Given the description of an element on the screen output the (x, y) to click on. 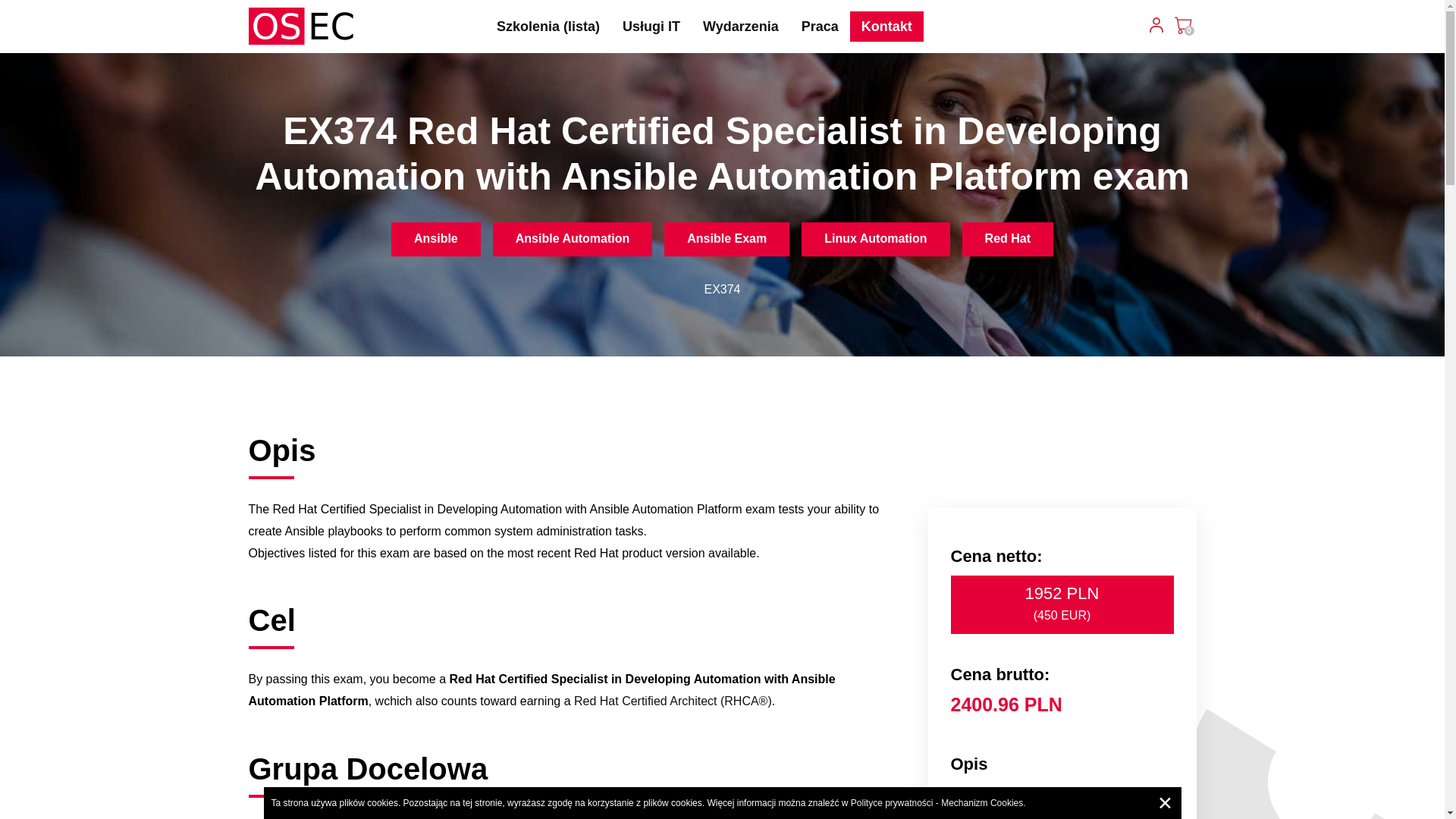
Ansible Exam (726, 238)
0 (1183, 24)
Praca (820, 26)
Ansible Automation (572, 238)
Linux Automation (875, 238)
Ansible (435, 238)
Wydarzenia (740, 26)
Kontakt (886, 26)
Red Hat (1007, 238)
